Given the description of an element on the screen output the (x, y) to click on. 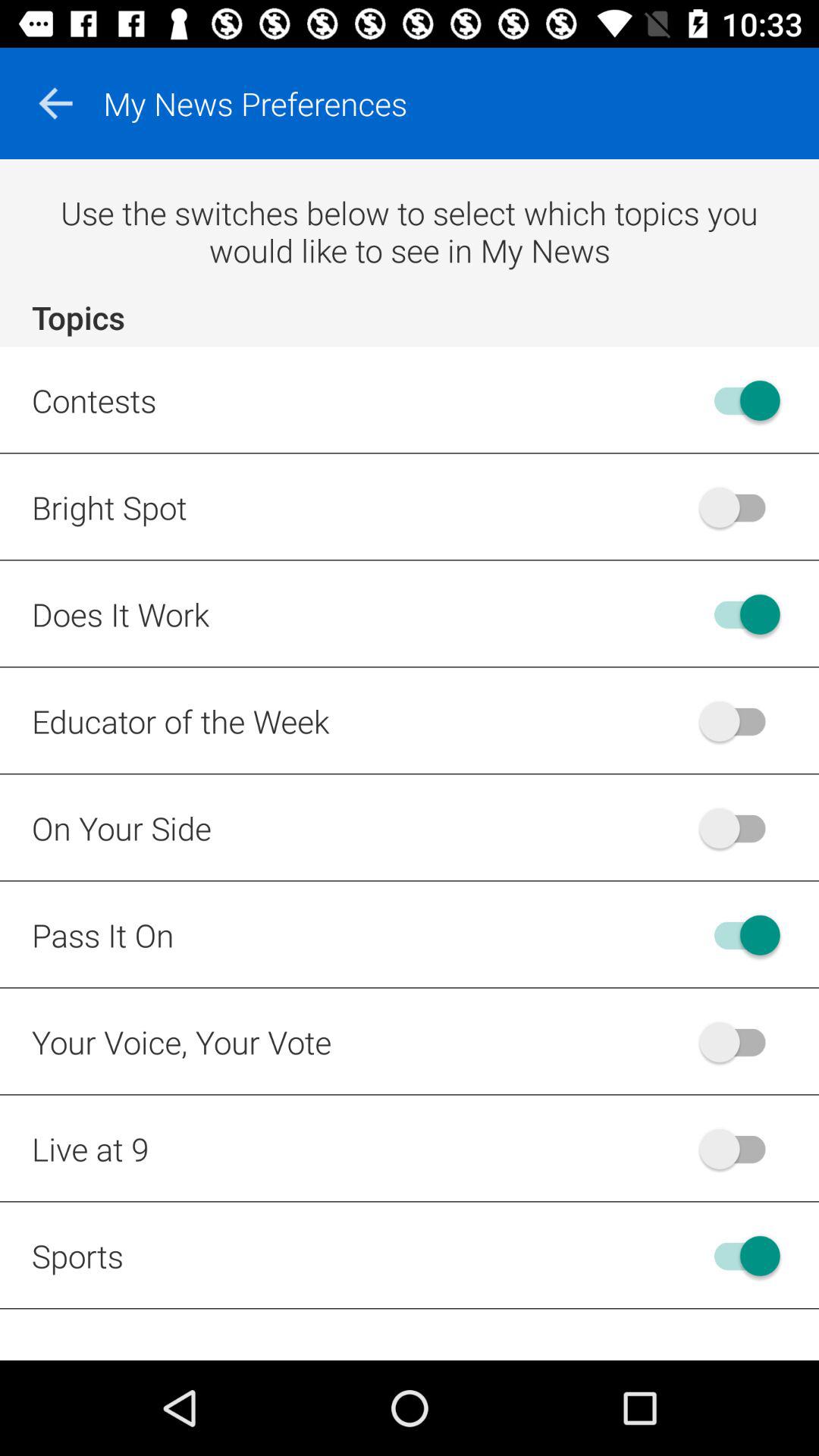
on (739, 1255)
